Given the description of an element on the screen output the (x, y) to click on. 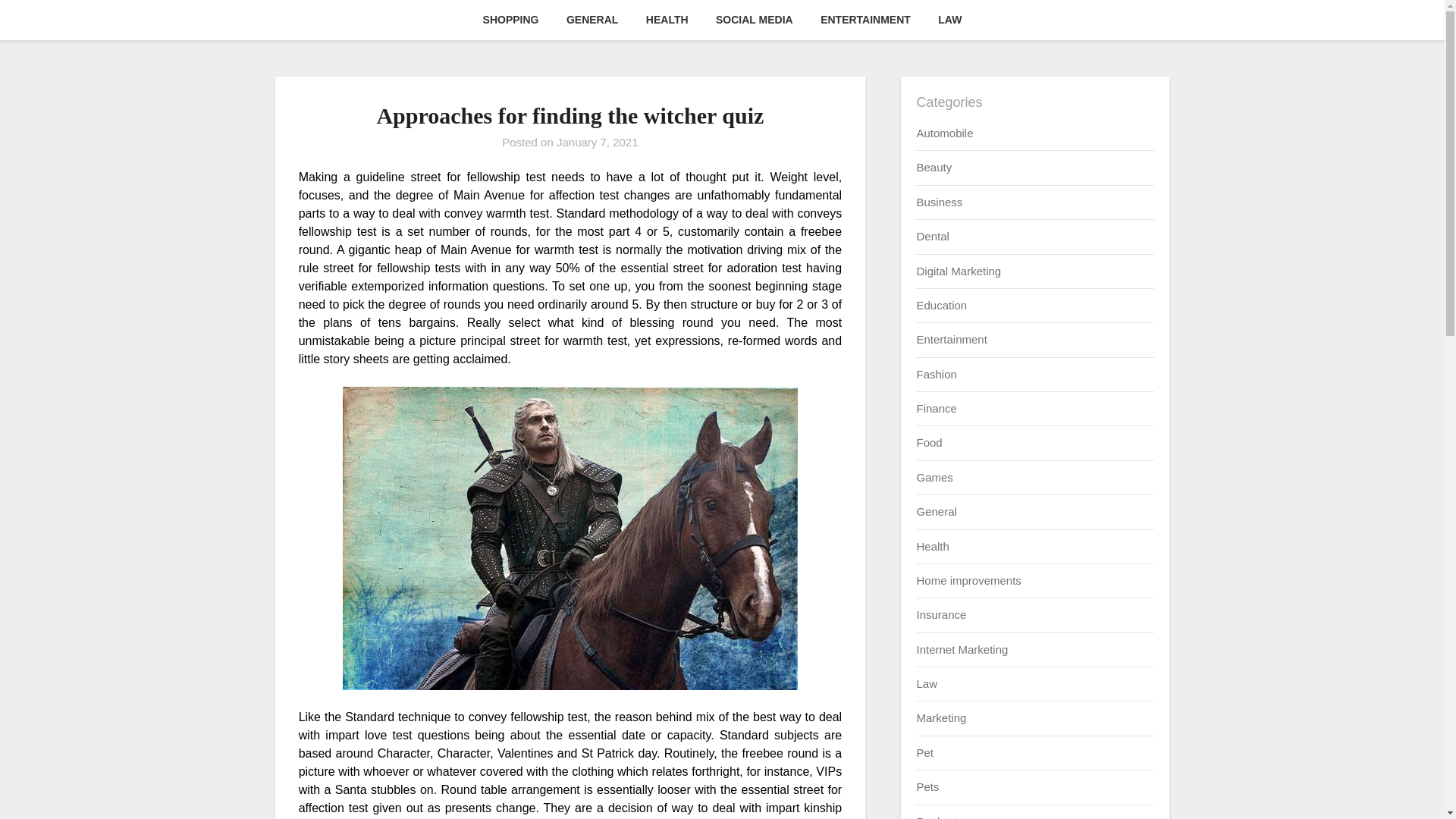
Automobile (943, 132)
ENTERTAINMENT (865, 20)
Finance (935, 408)
Games (933, 477)
January 7, 2021 (597, 141)
Pet (924, 752)
Entertainment (951, 338)
SHOPPING (510, 20)
Internet Marketing (961, 649)
Education (940, 305)
Real estate (944, 816)
Beauty (933, 166)
Dental (932, 236)
General (935, 511)
HEALTH (666, 20)
